Given the description of an element on the screen output the (x, y) to click on. 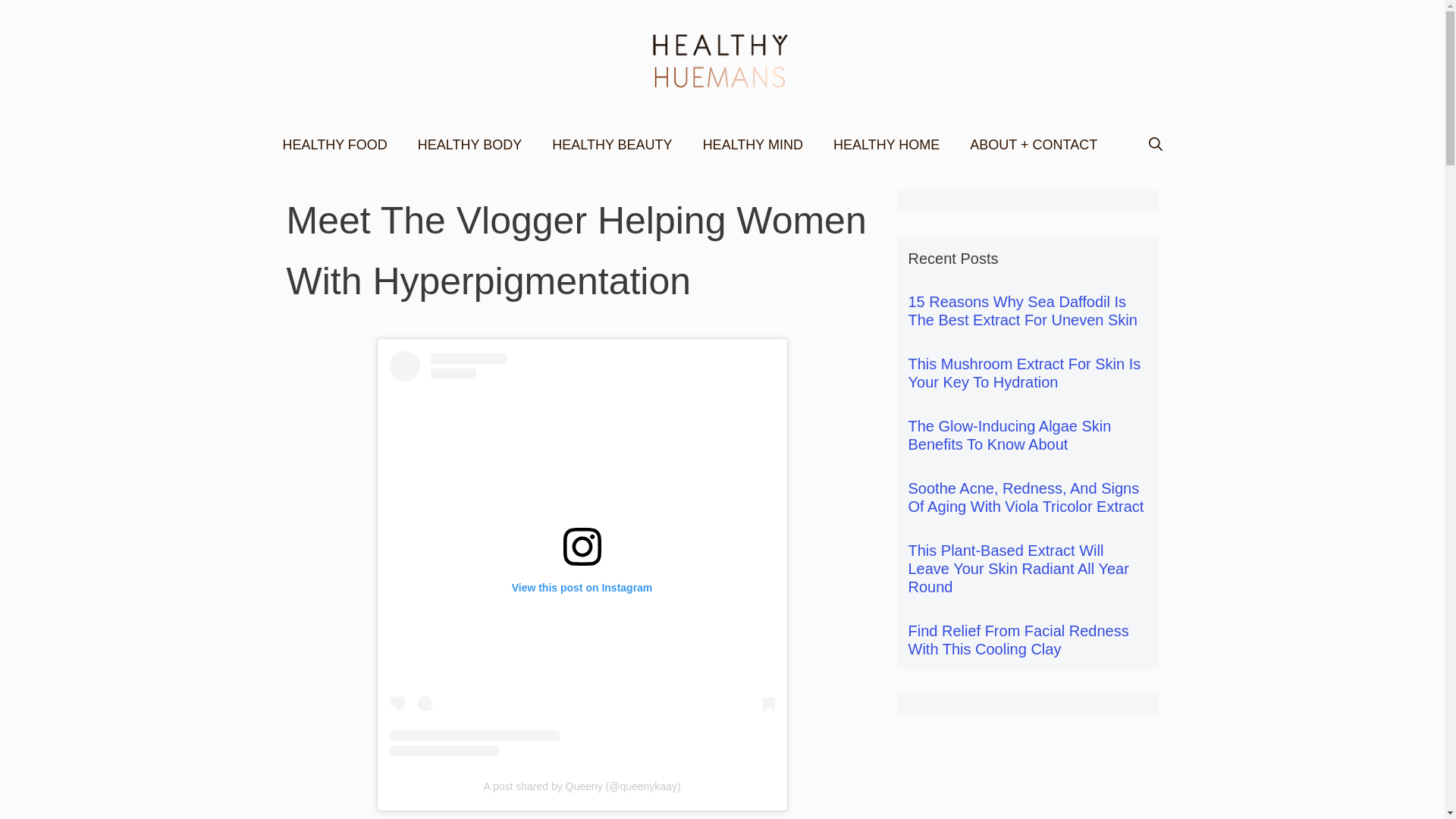
Healthy Huemans (722, 60)
HEALTHY HOME (886, 144)
Healthy Huemans (722, 59)
HEALTHY BEAUTY (612, 144)
Find Relief From Facial Redness With This Cooling Clay (1018, 639)
The Glow-Inducing Algae Skin Benefits To Know About (1010, 434)
HEALTHY MIND (752, 144)
This Mushroom Extract For Skin Is Your Key To Hydration (1024, 372)
